Given the description of an element on the screen output the (x, y) to click on. 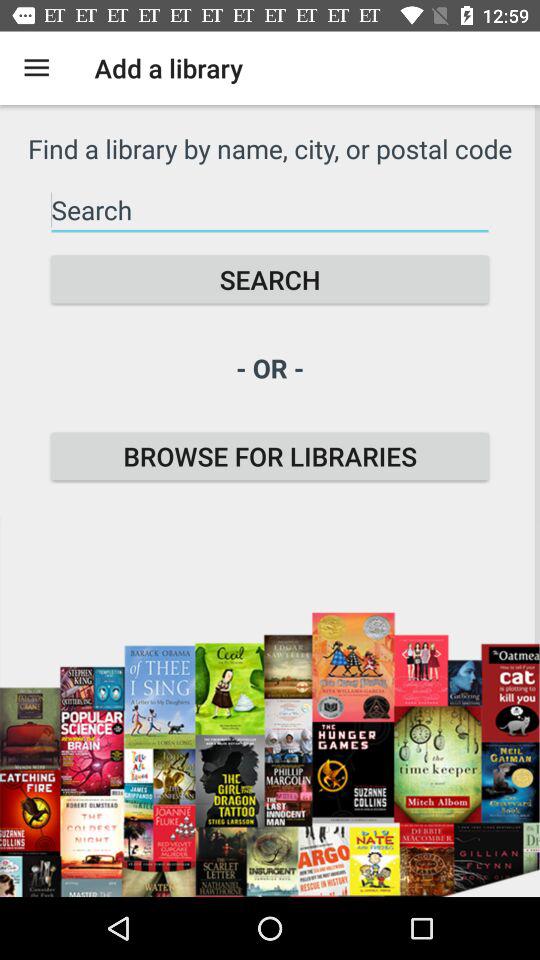
click the item above - or - item (269, 279)
